Given the description of an element on the screen output the (x, y) to click on. 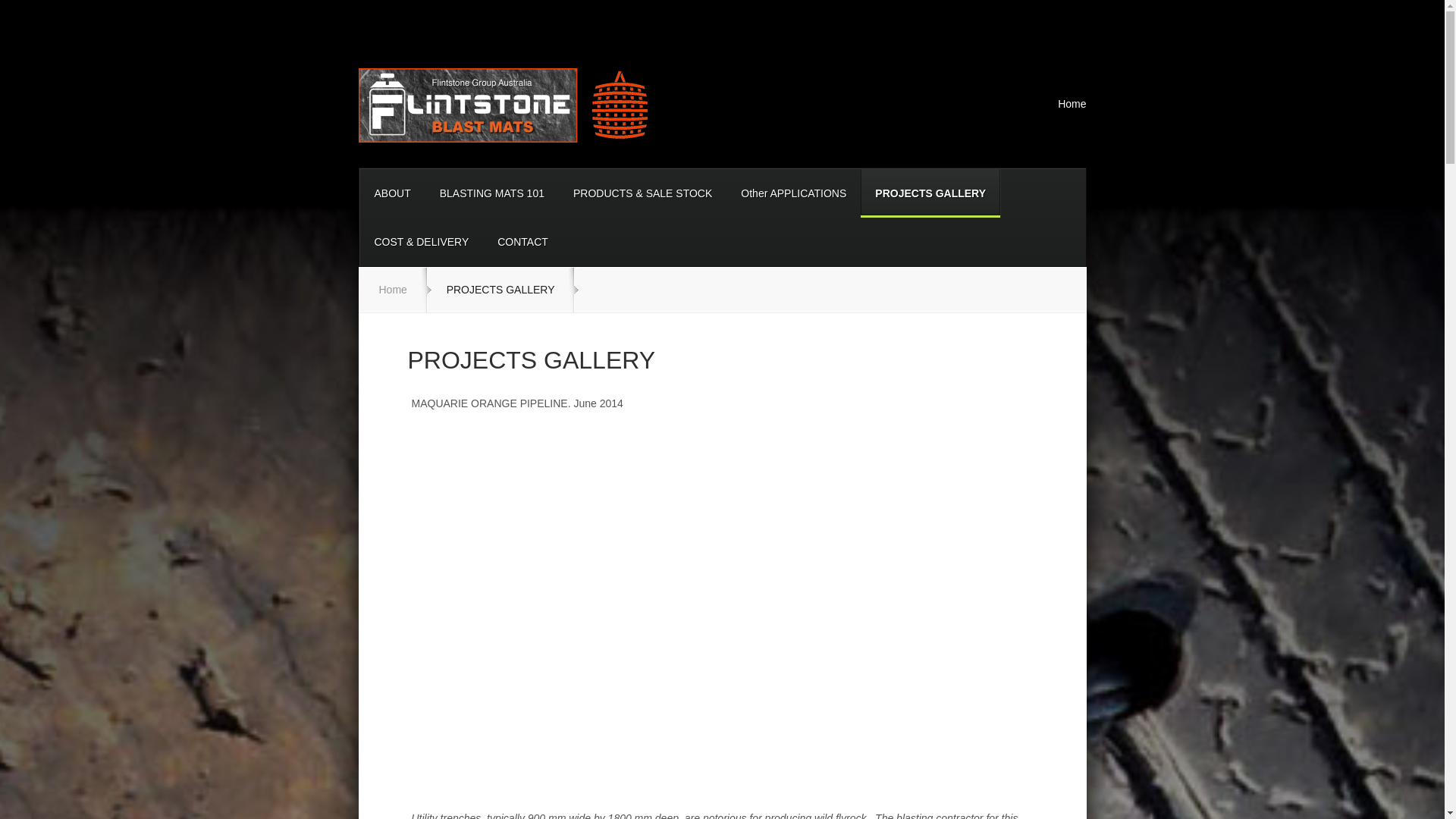
ABOUT (392, 192)
Home (1064, 107)
Other APPLICATIONS (793, 192)
Home (392, 289)
BLASTING MATS 101 (492, 192)
CONTACT (522, 241)
PROJECTS GALLERY (930, 192)
